Given the description of an element on the screen output the (x, y) to click on. 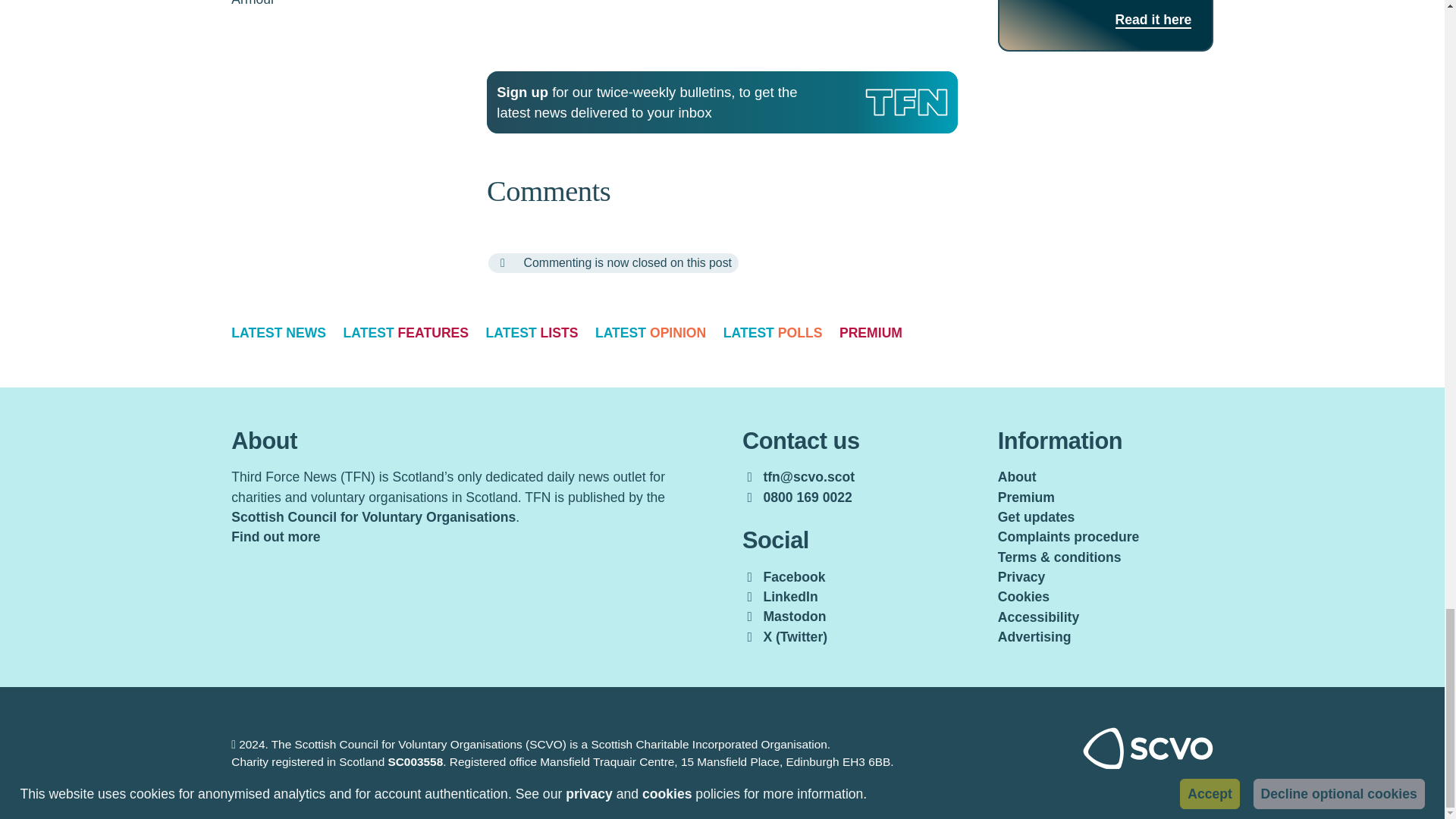
Scottish Council for Voluntary Organisations (1147, 765)
Copyright (233, 744)
